Given the description of an element on the screen output the (x, y) to click on. 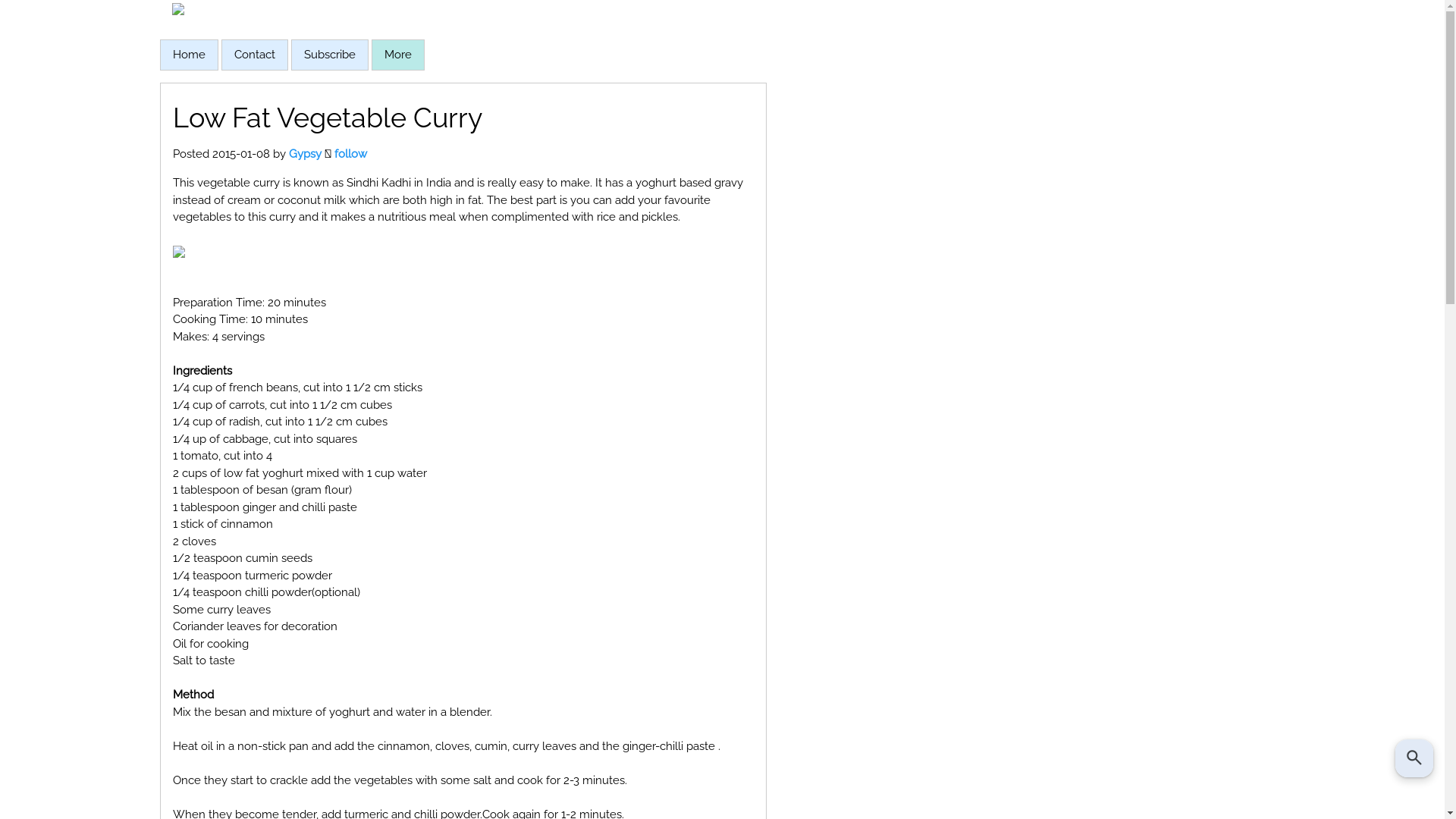
Home Element type: text (188, 54)
Subscribe Element type: text (328, 54)
More Element type: text (397, 54)
Contact Element type: text (253, 54)
Gypsy Element type: text (304, 153)
follow Element type: text (349, 153)
